Given the description of an element on the screen output the (x, y) to click on. 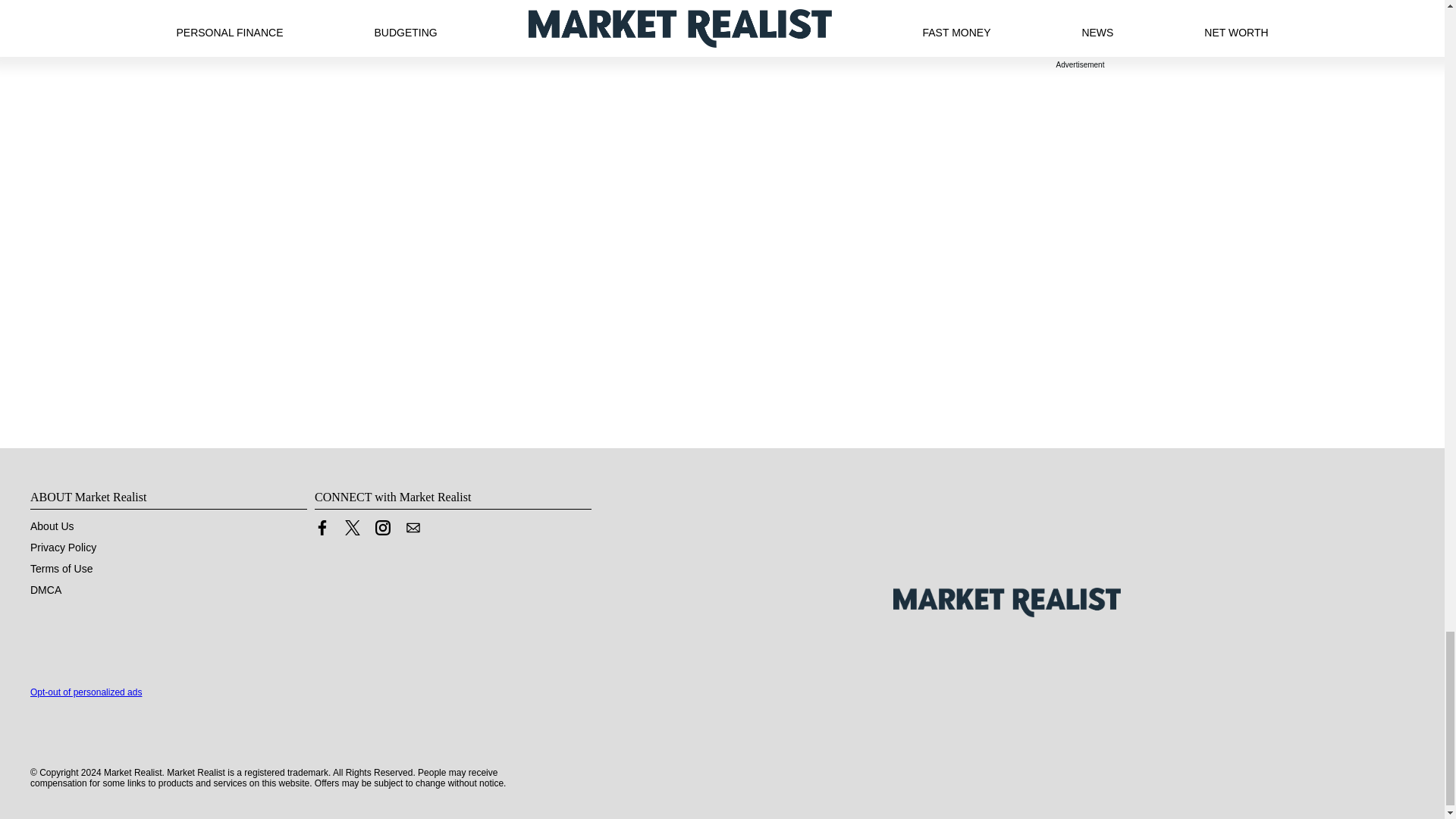
Contact us by Email (413, 531)
Terms of Use (61, 568)
Link to X (352, 527)
About Us (52, 526)
Link to X (352, 531)
Terms of Use (61, 568)
Contact us by Email (413, 527)
Privacy Policy (63, 547)
Link to Facebook (322, 531)
Link to Instagram (382, 527)
Privacy Policy (63, 547)
DMCA (45, 589)
DMCA (45, 589)
About Us (52, 526)
Link to Facebook (322, 527)
